Given the description of an element on the screen output the (x, y) to click on. 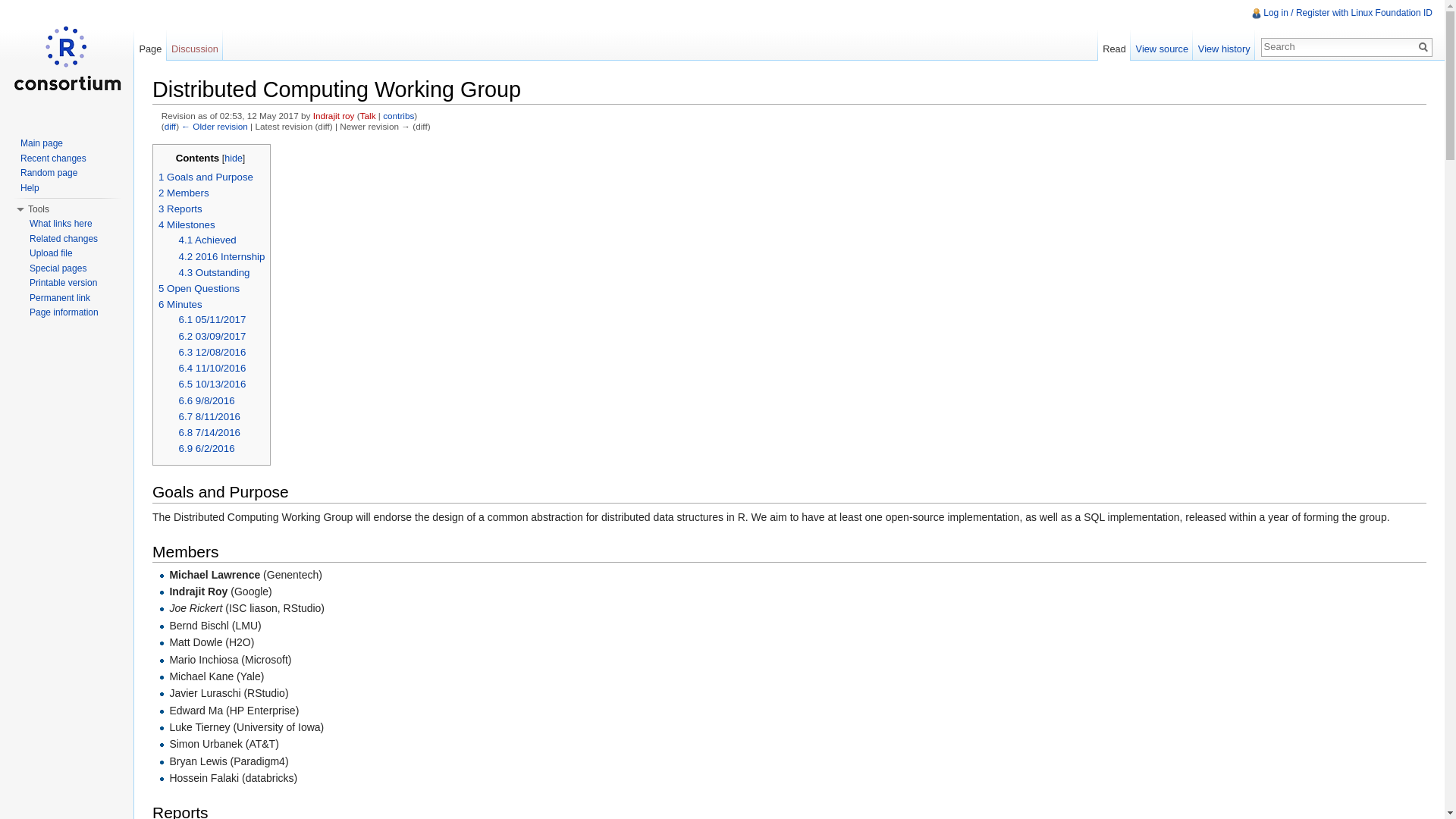
4 Milestones (186, 224)
diff (170, 126)
Distributed Computing Working Group (213, 126)
3 Reports (180, 208)
Go to a page with this exact name if exists (1423, 46)
Talk (367, 115)
Discussion (195, 45)
Go (1423, 46)
5 Open Questions (199, 288)
Go (1423, 46)
